Given the description of an element on the screen output the (x, y) to click on. 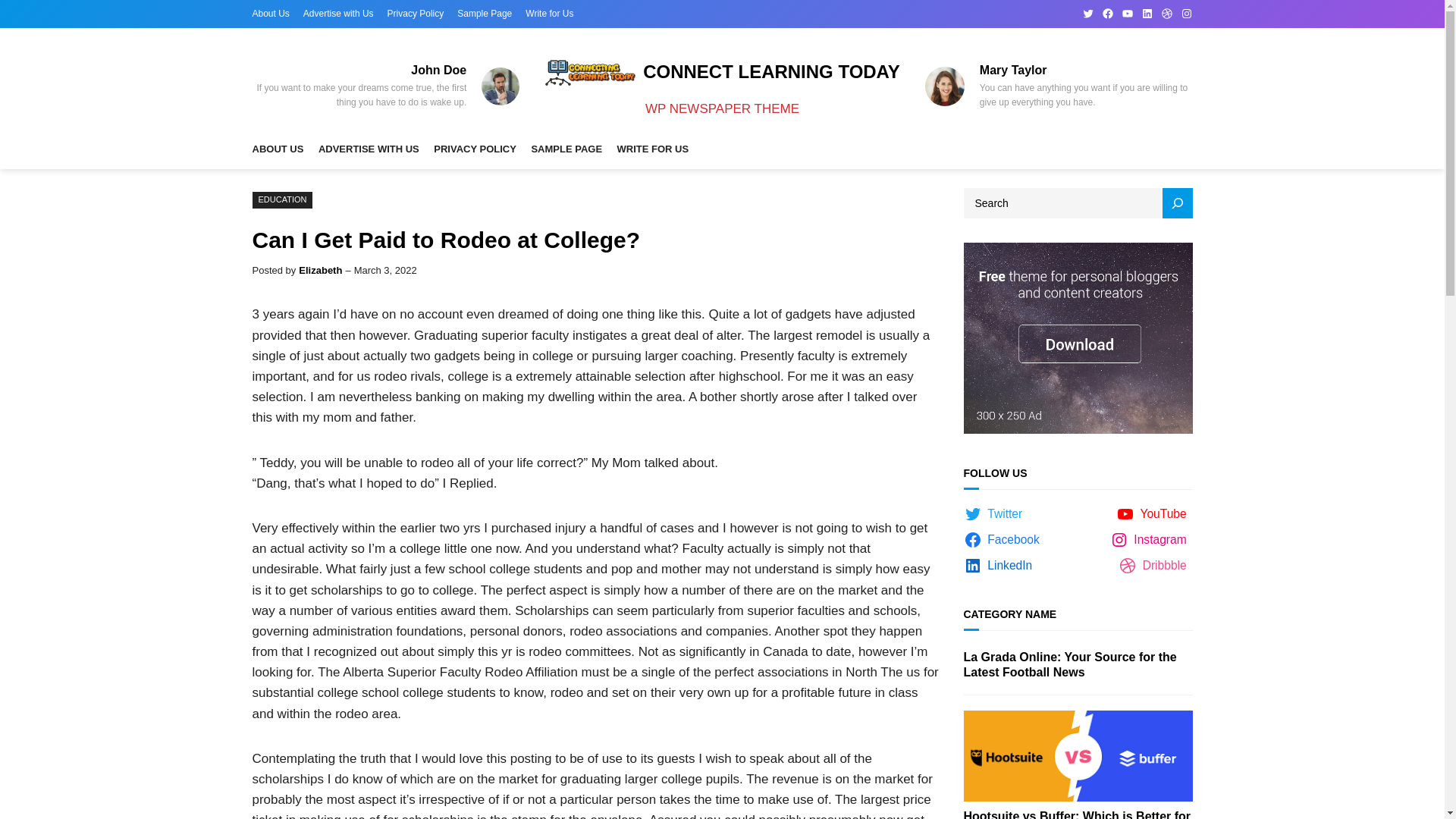
Elizabeth (320, 270)
Dribbble (1155, 565)
Facebook (1106, 13)
Dribbble (1166, 13)
About Us (269, 13)
Instagram (1185, 13)
ADVERTISE WITH US (368, 149)
WRITE FOR US (652, 149)
PRIVACY POLICY (474, 149)
LinkedIn (1000, 565)
